Given the description of an element on the screen output the (x, y) to click on. 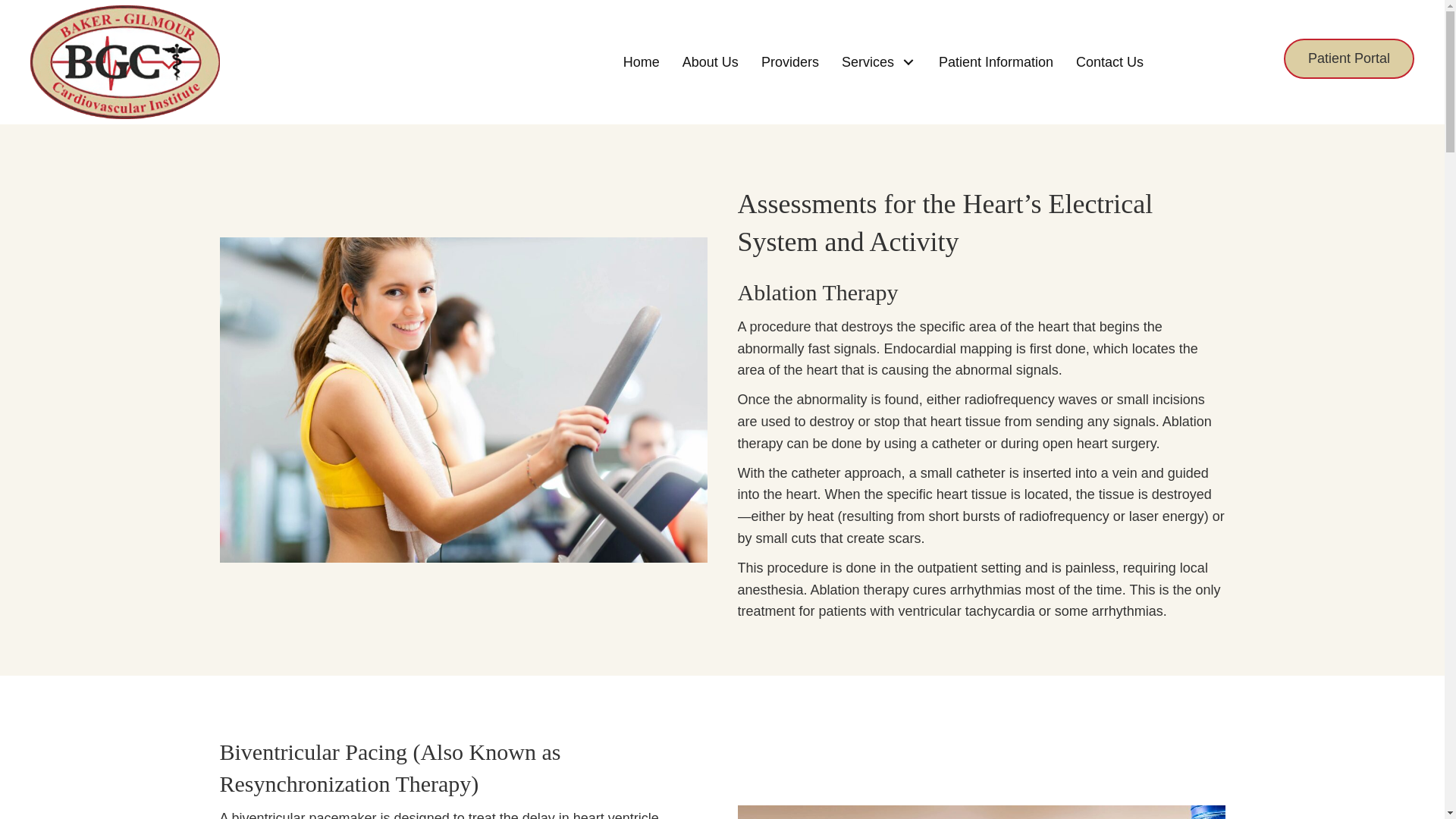
About Us (710, 62)
Providers (789, 62)
Patient Information (995, 62)
Services (878, 62)
Contact Us (1109, 62)
Home (641, 62)
Patient Portal (1348, 58)
